Given the description of an element on the screen output the (x, y) to click on. 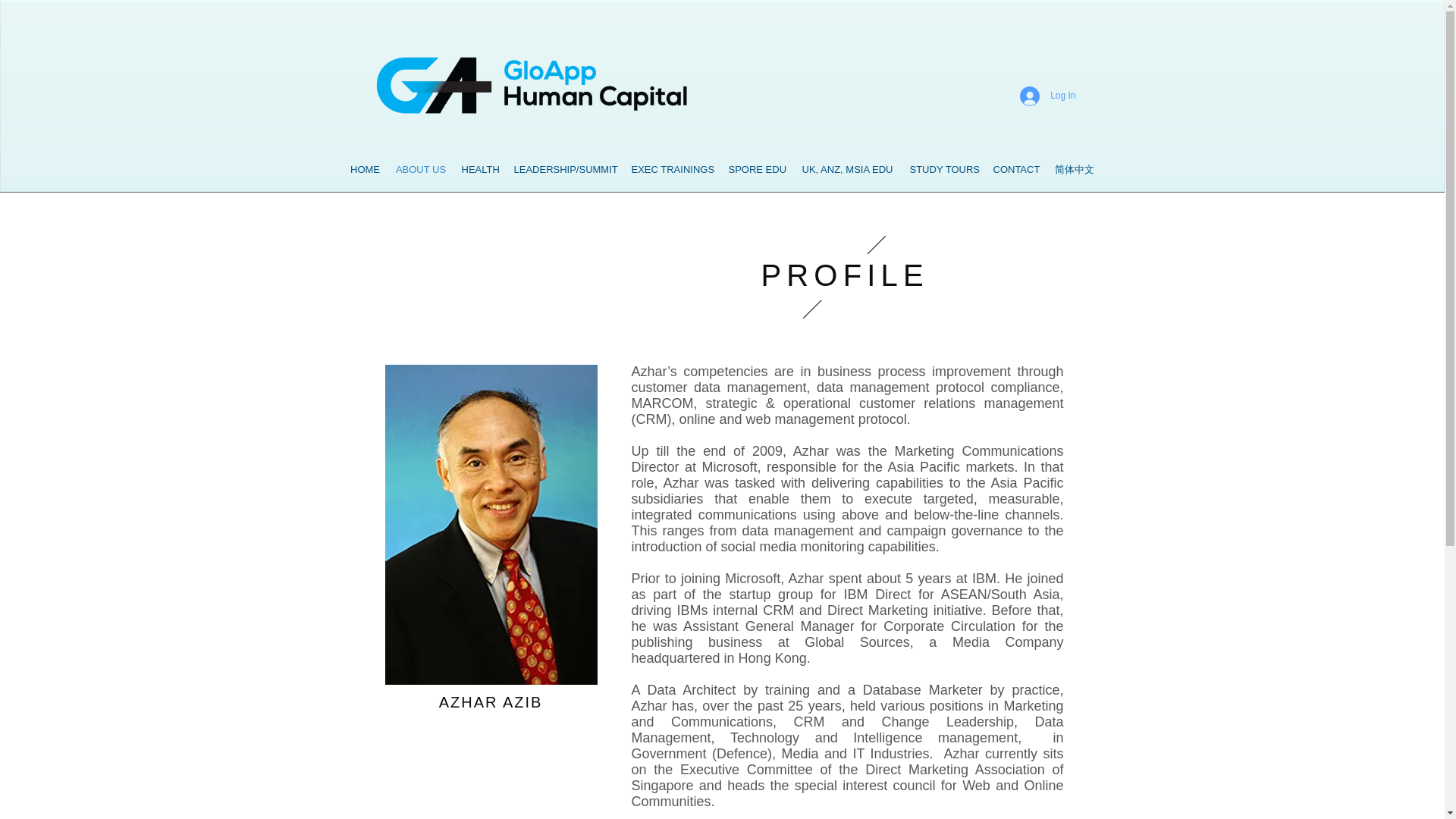
ABOUT US (421, 169)
Log In (1047, 95)
HOME (365, 169)
EXEC TRAININGS (671, 169)
HEALTH (478, 169)
Shape-1-copy-2.png (843, 276)
